Given the description of an element on the screen output the (x, y) to click on. 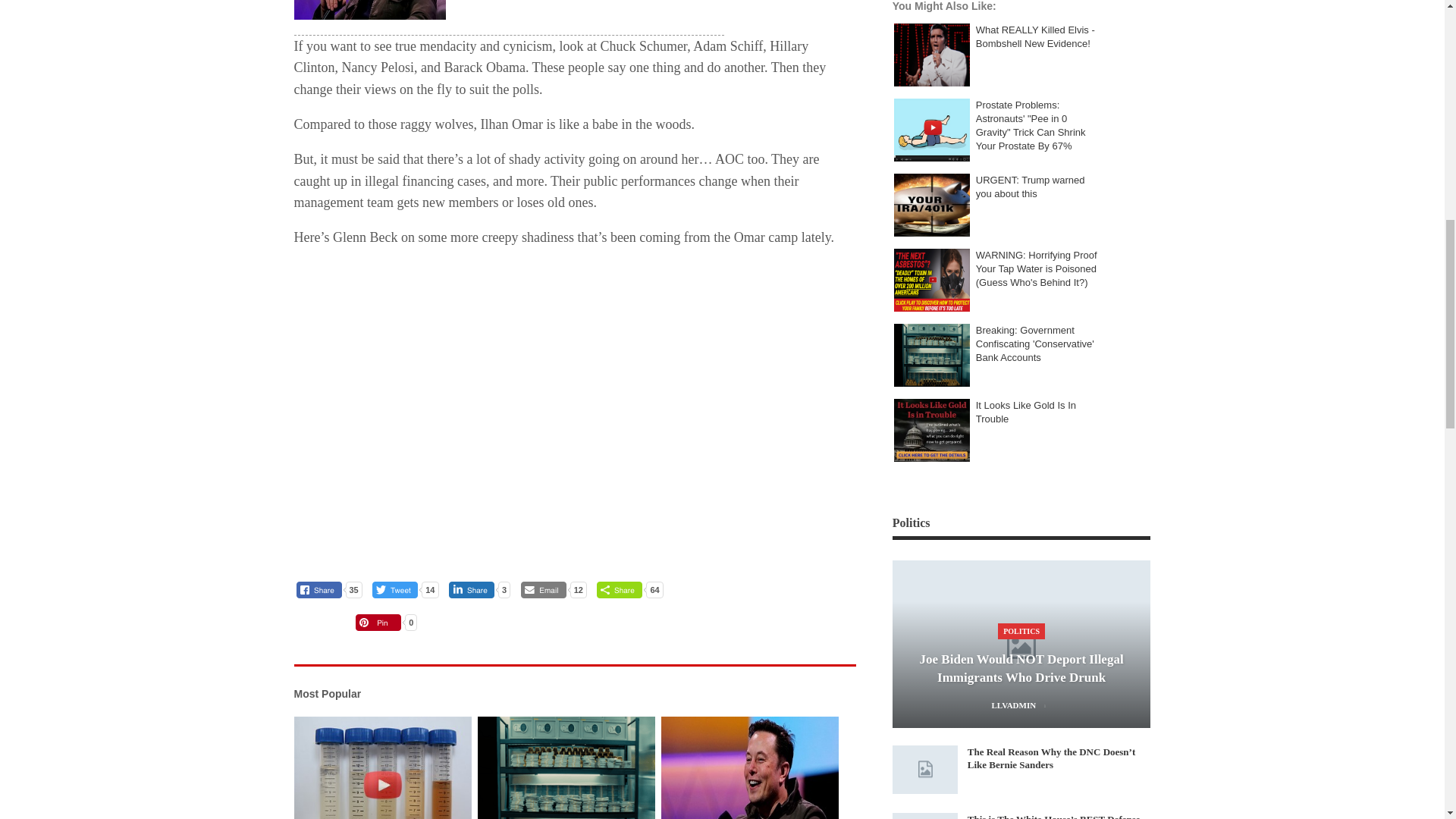
Elon Musk Drops Untold Bombshell Live Today (750, 767)
